Given the description of an element on the screen output the (x, y) to click on. 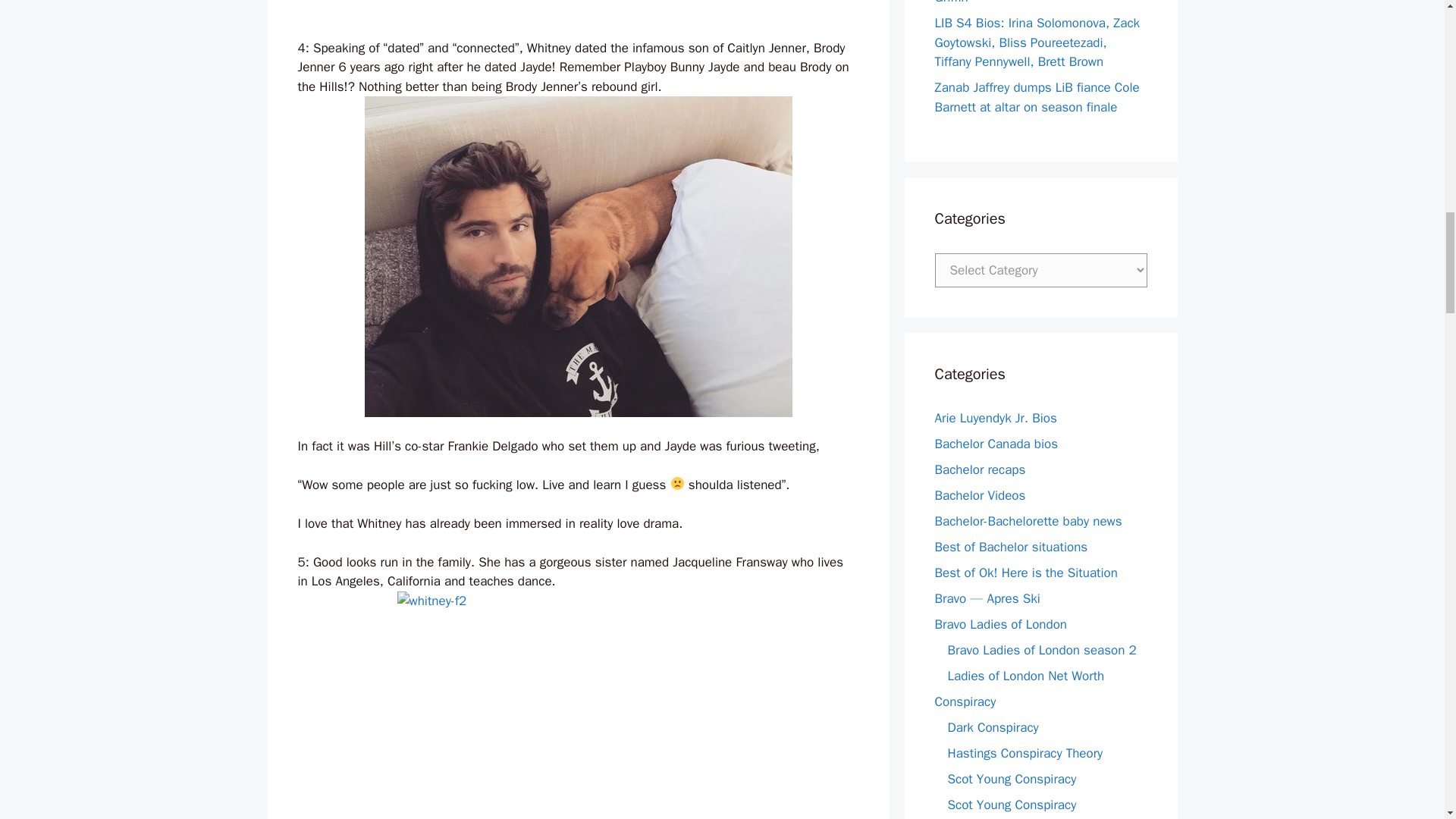
Hastings Conspiracy Theory (1025, 753)
Bravo Ladies of London  (1000, 624)
Ladies of London Net Worth (1026, 675)
best of hts! (1025, 572)
Bravo Ladies of London season 2 (1042, 650)
Bravo --- Apres Ski (986, 598)
